Given the description of an element on the screen output the (x, y) to click on. 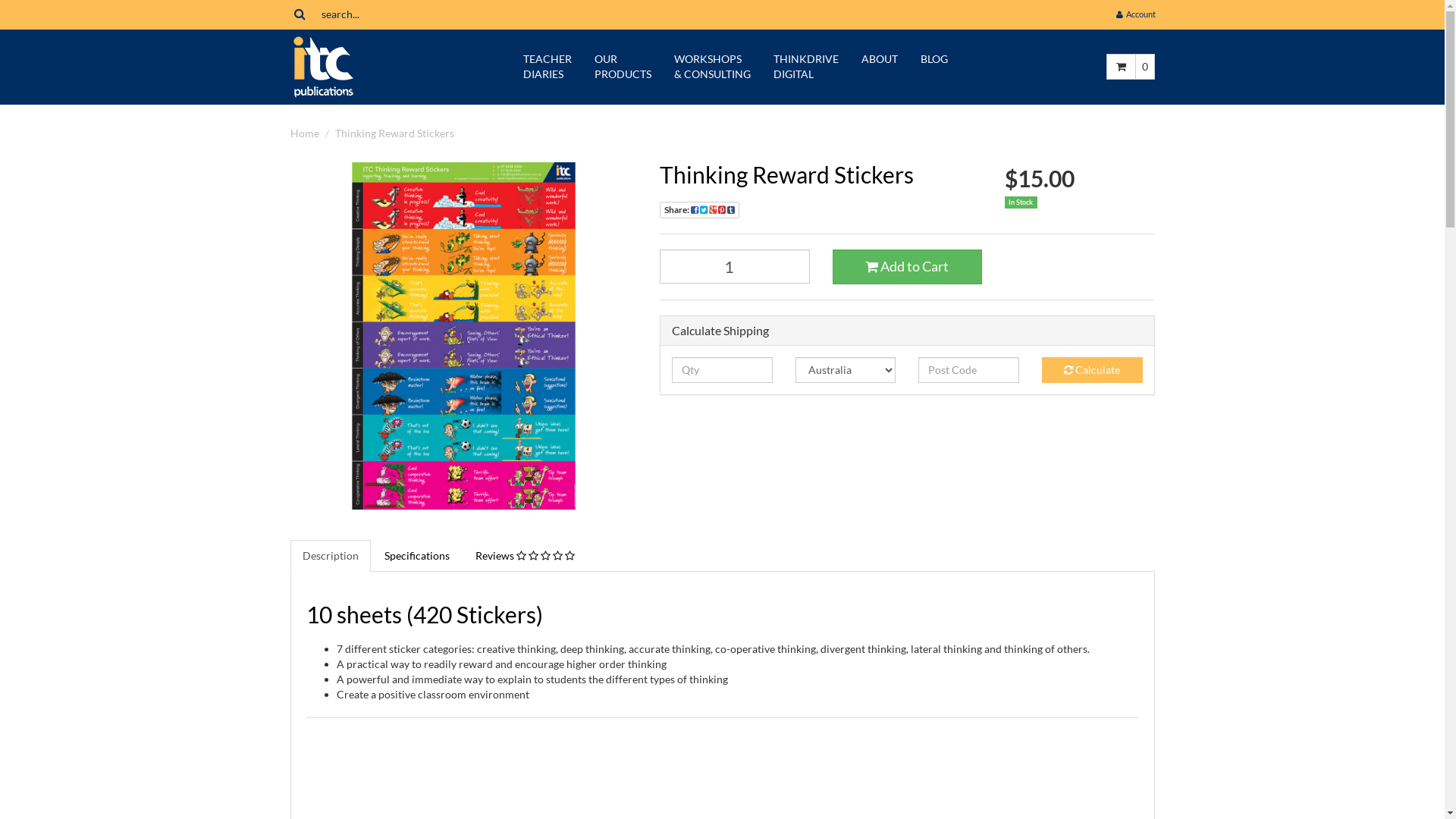
Add to Cart Element type: text (907, 266)
ABOUT Element type: text (879, 59)
Calculate Element type: text (1091, 369)
TEACHER
DIARIES Element type: text (547, 66)
Home Element type: text (303, 132)
Search Element type: text (298, 13)
 Account Element type: text (1135, 14)
Reviews Element type: text (524, 555)
Share: Element type: text (699, 209)
THINKDRIVE
DIGITAL Element type: text (806, 66)
OUR
PRODUCTS Element type: text (622, 66)
Description Element type: text (329, 555)
BLOG Element type: text (934, 59)
Thinking Reward Stickers Element type: text (394, 132)
Specifications Element type: text (416, 555)
itc Publications Element type: hover (322, 65)
0 Element type: text (1144, 66)
WORKSHOPS
& CONSULTING Element type: text (712, 66)
